Given the description of an element on the screen output the (x, y) to click on. 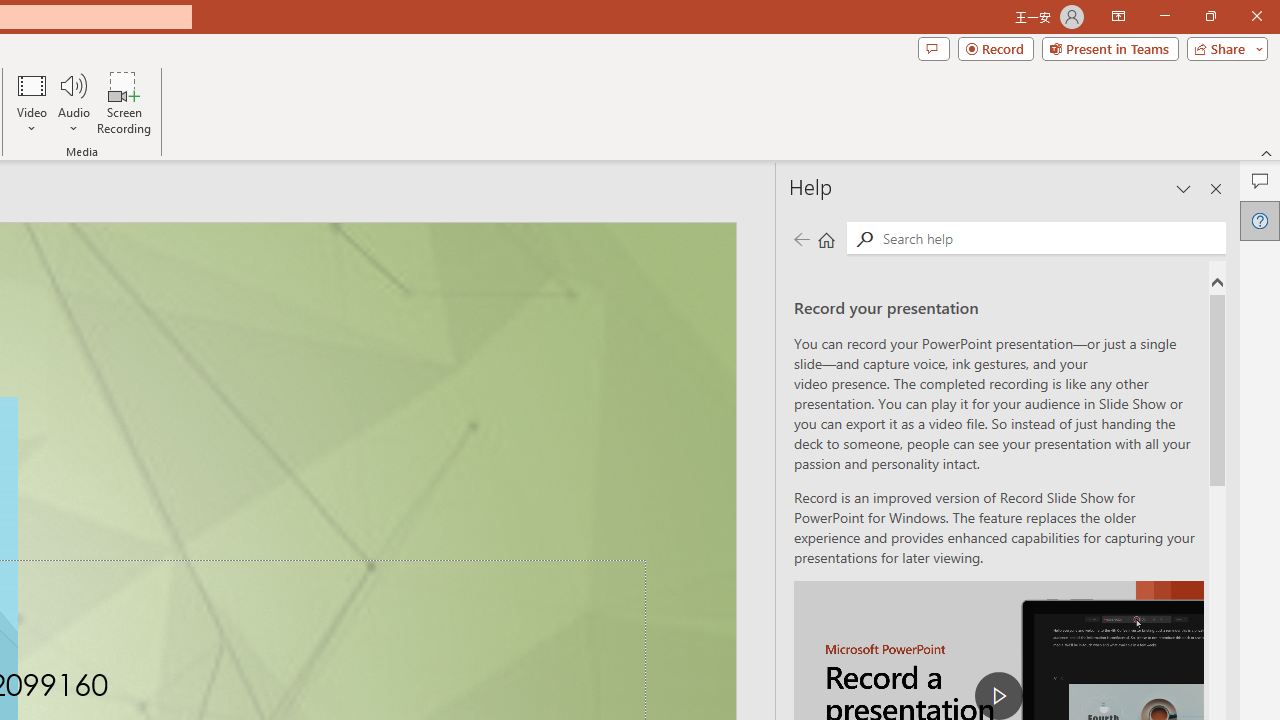
Present in Teams (1109, 48)
Collapse the Ribbon (1267, 152)
Task Pane Options (1183, 188)
Video (31, 102)
Record (995, 48)
Search (864, 238)
Screen Recording... (123, 102)
